Given the description of an element on the screen output the (x, y) to click on. 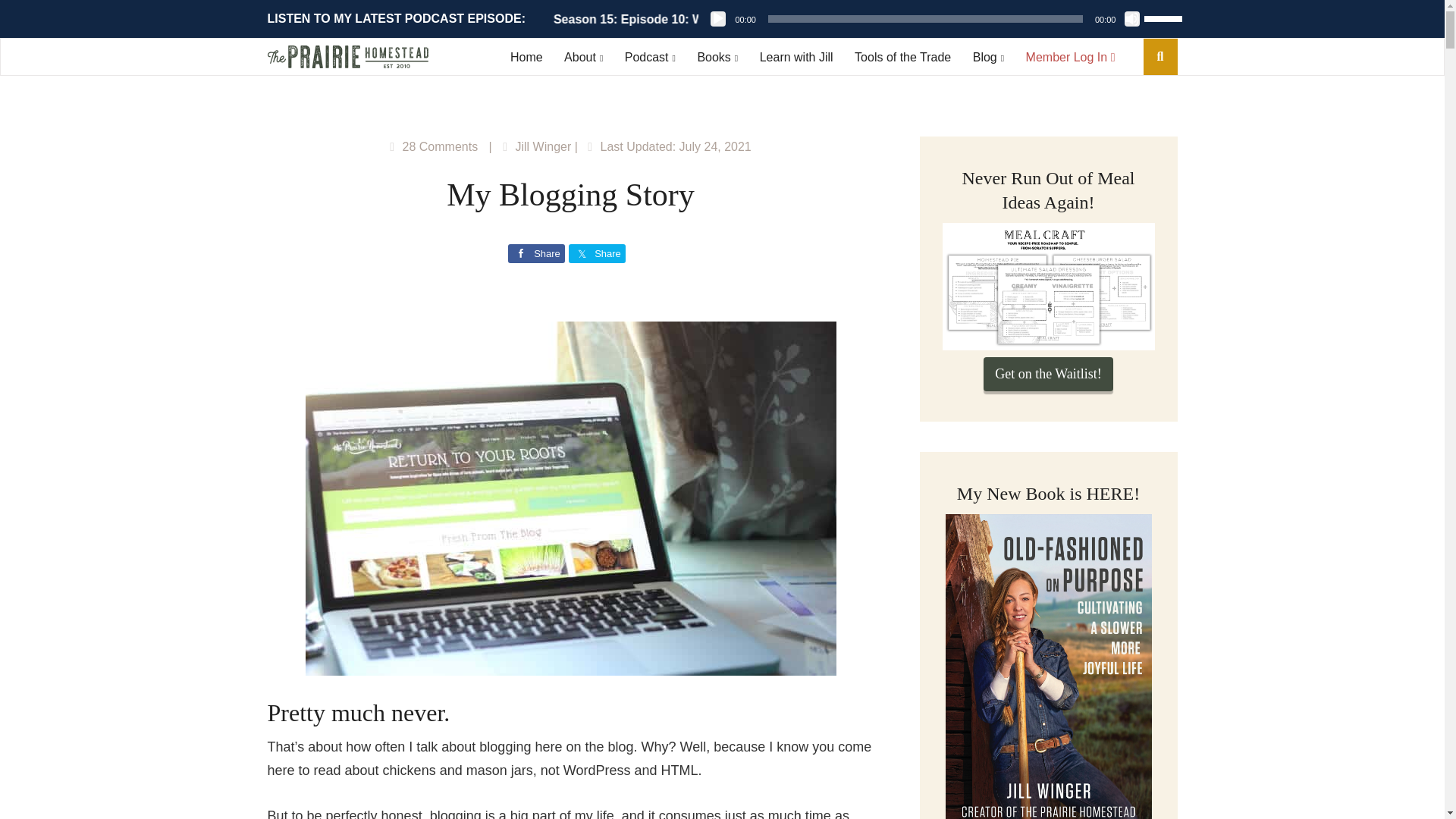
Tools of the Trade (902, 56)
Home (527, 56)
Share (597, 253)
Member Log In (1070, 56)
Learn with Jill (796, 56)
Share (536, 253)
28 Comments (441, 146)
Podcast (649, 56)
About (583, 56)
